Given the description of an element on the screen output the (x, y) to click on. 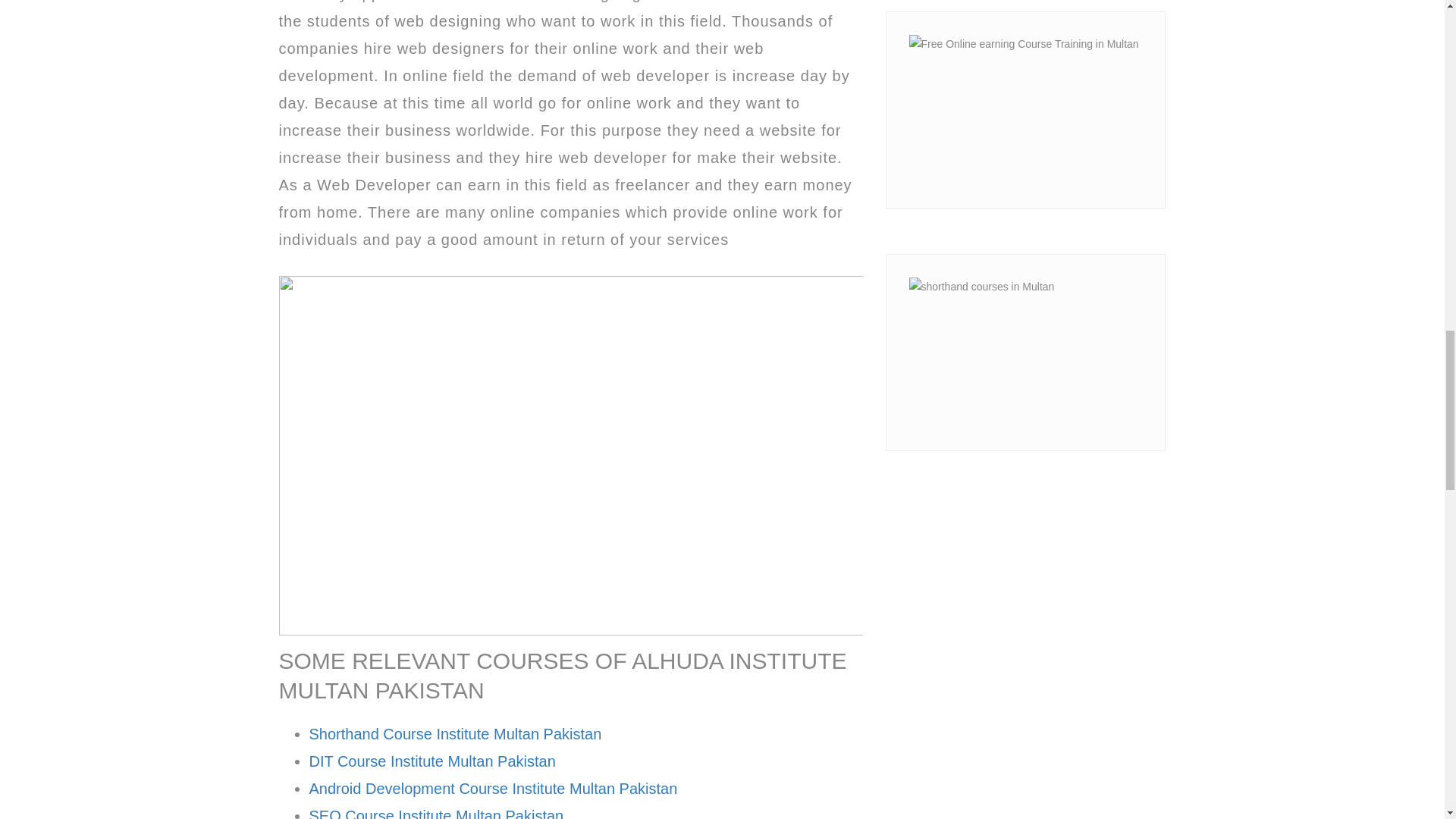
Shorthand Course Institute Multan Pakistan (455, 733)
SEO Course Institute Multan Pakistan (436, 813)
DIT Course Institute Multan Pakistan (432, 760)
Android Development Course Institute Multan Pakistan (493, 788)
